Given the description of an element on the screen output the (x, y) to click on. 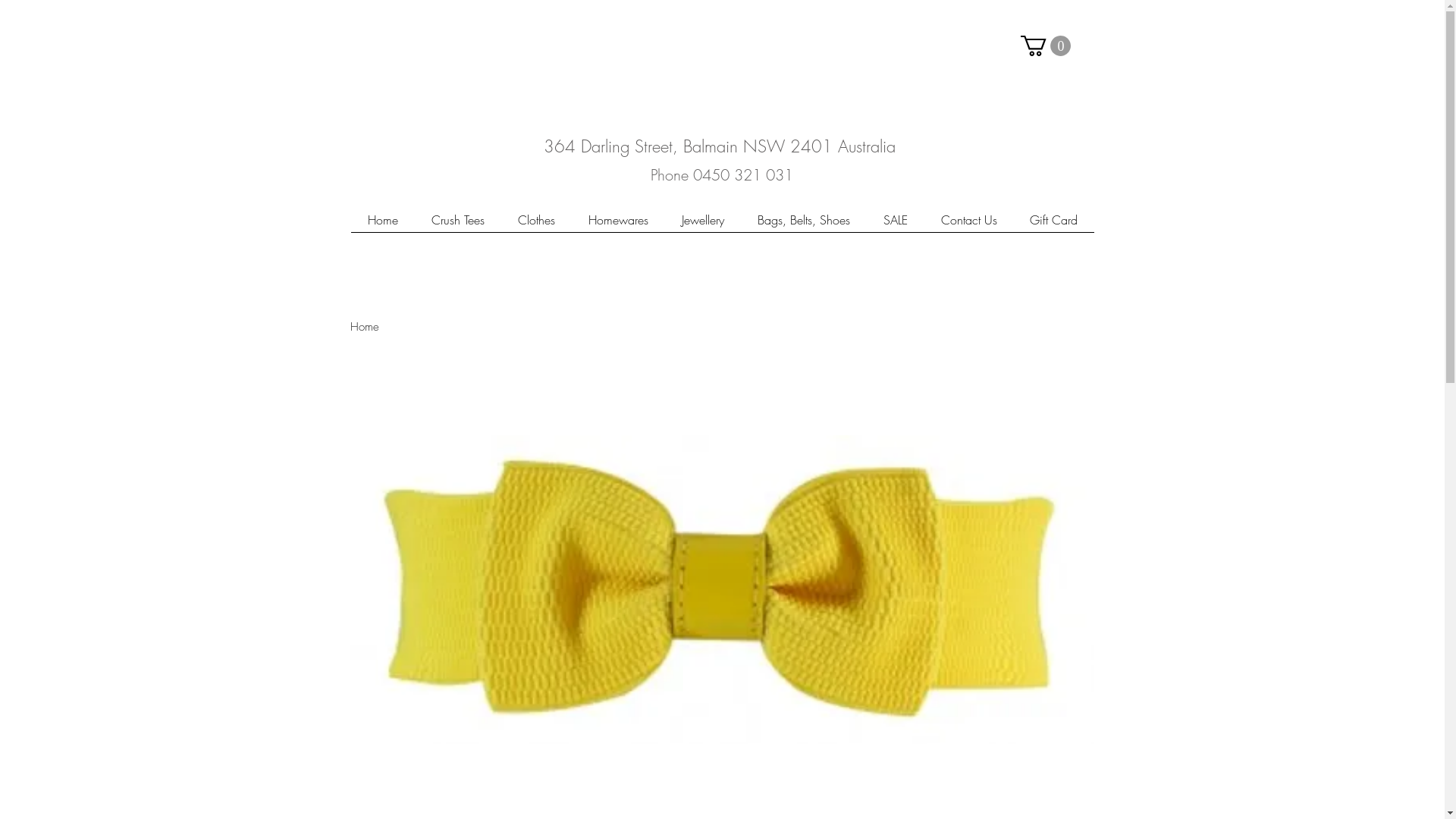
Crush Tees Element type: text (457, 224)
Gift Card Element type: text (1053, 224)
Jewellery Element type: text (702, 224)
SALE Element type: text (894, 224)
Phone 0450 321 031 Element type: text (720, 174)
0 Element type: text (1045, 45)
Home Element type: text (364, 326)
Clothes Element type: text (535, 224)
Homewares Element type: text (618, 224)
Contact Us Element type: text (968, 224)
Home Element type: text (382, 224)
Bags, Belts, Shoes Element type: text (803, 224)
